Given the description of an element on the screen output the (x, y) to click on. 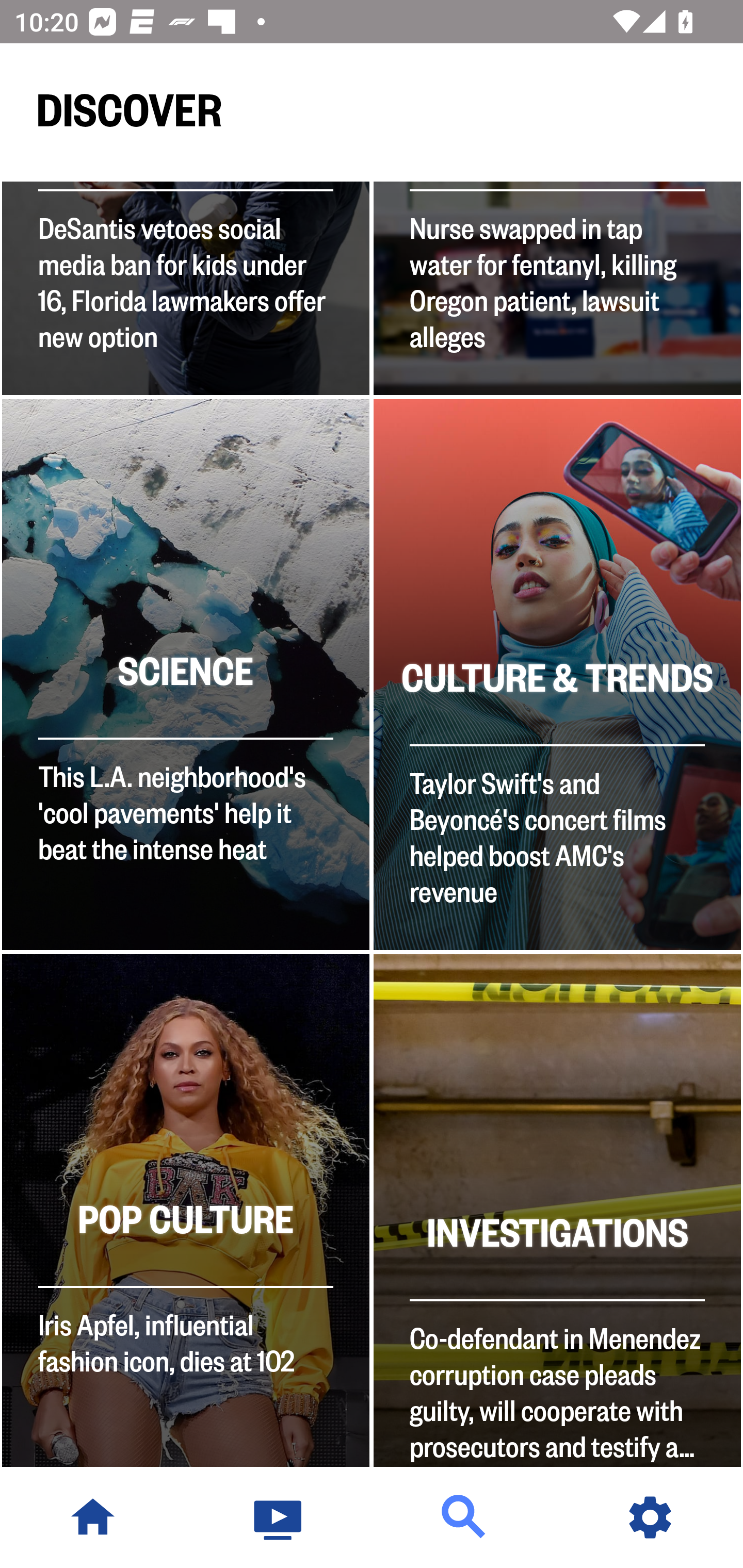
NBC News Home (92, 1517)
Watch (278, 1517)
Settings (650, 1517)
